Given the description of an element on the screen output the (x, y) to click on. 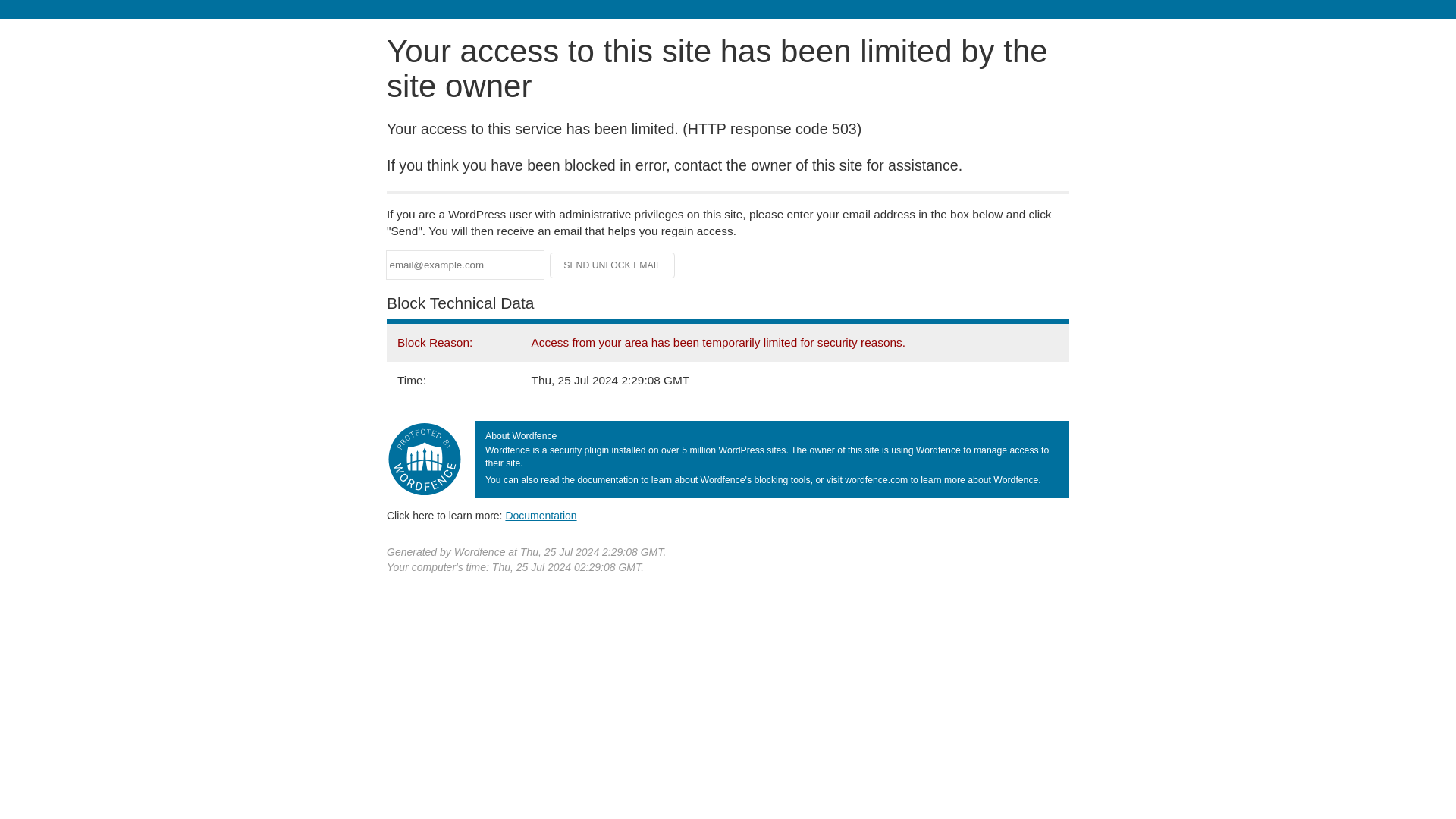
Documentation (540, 515)
Send Unlock Email (612, 265)
Send Unlock Email (612, 265)
